Given the description of an element on the screen output the (x, y) to click on. 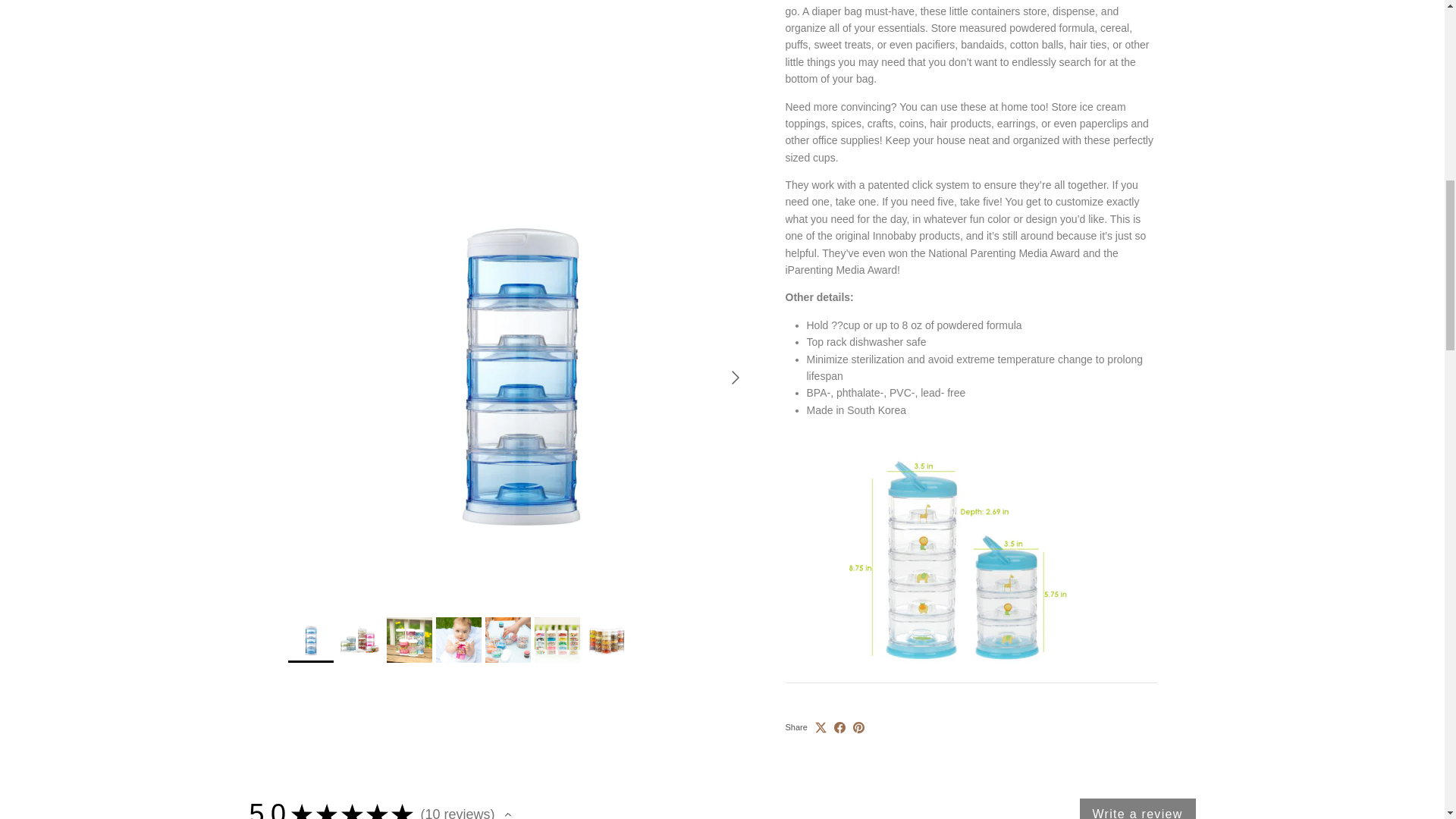
Tweet on X (821, 708)
Pin on Pinterest (858, 708)
Share on Facebook (839, 708)
